Given the description of an element on the screen output the (x, y) to click on. 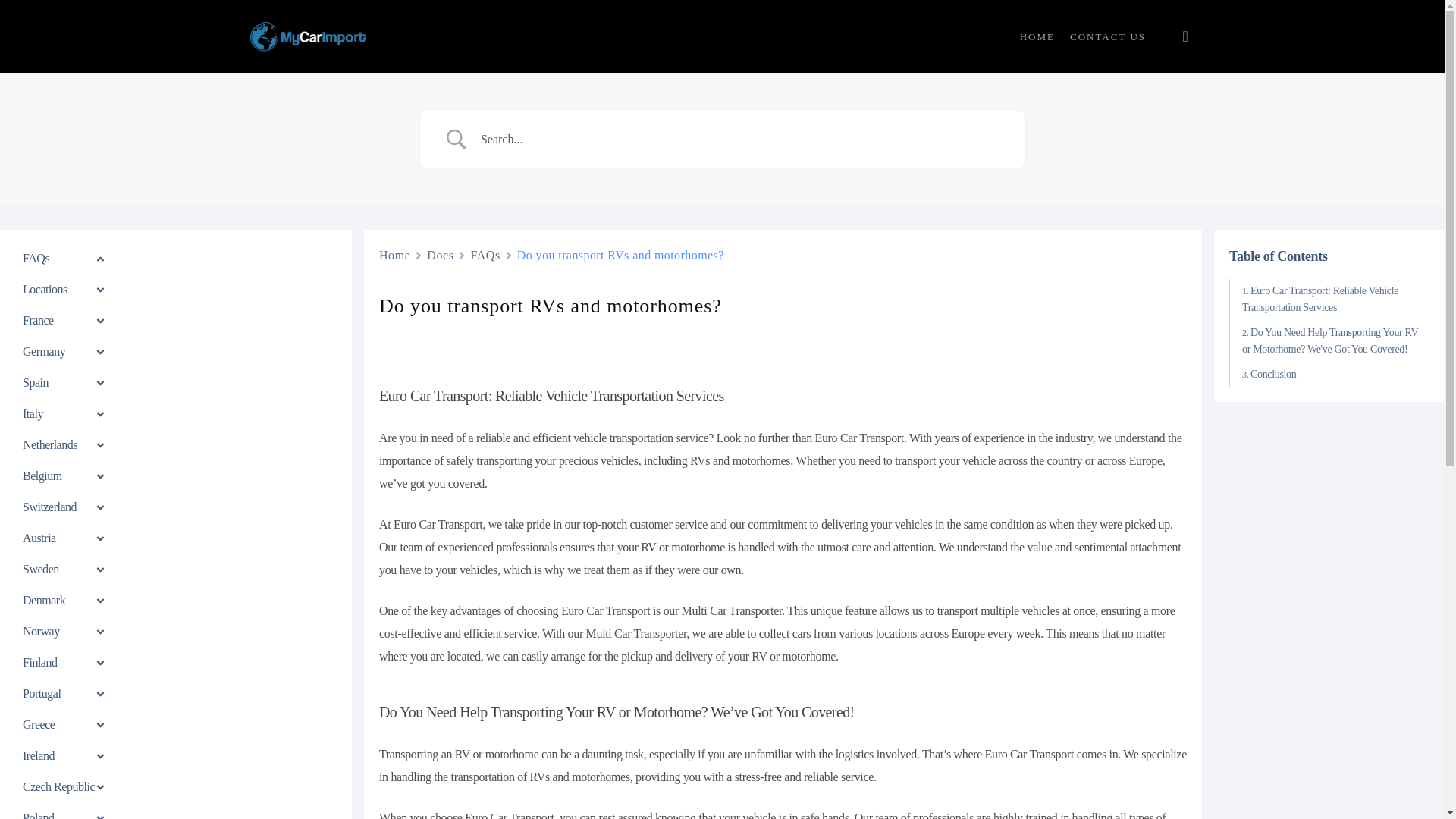
Home (394, 254)
Docs (439, 254)
search (1184, 36)
FAQs (484, 254)
HOME (1037, 36)
CONTACT US (1107, 36)
